Given the description of an element on the screen output the (x, y) to click on. 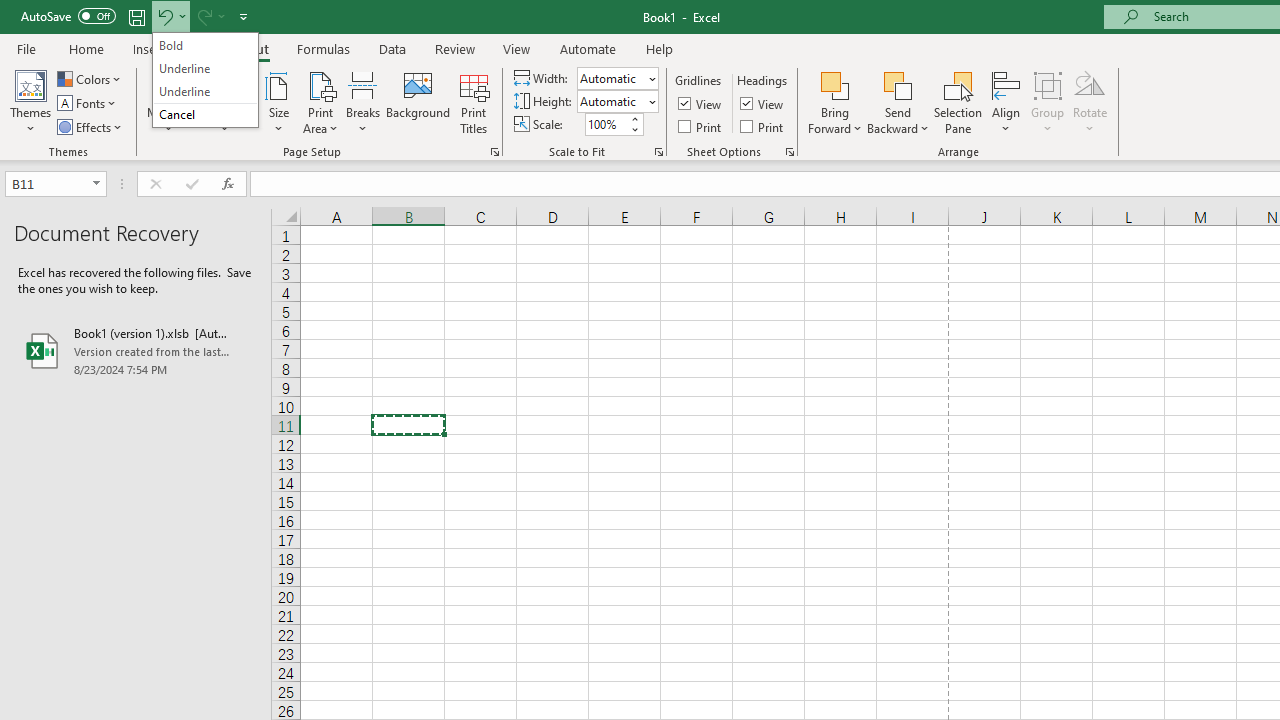
Breaks (362, 102)
Print (763, 126)
Width (618, 78)
&Undo (205, 79)
More (633, 118)
Themes (30, 102)
Height (618, 101)
Print Area (320, 102)
Effects (91, 126)
